Given the description of an element on the screen output the (x, y) to click on. 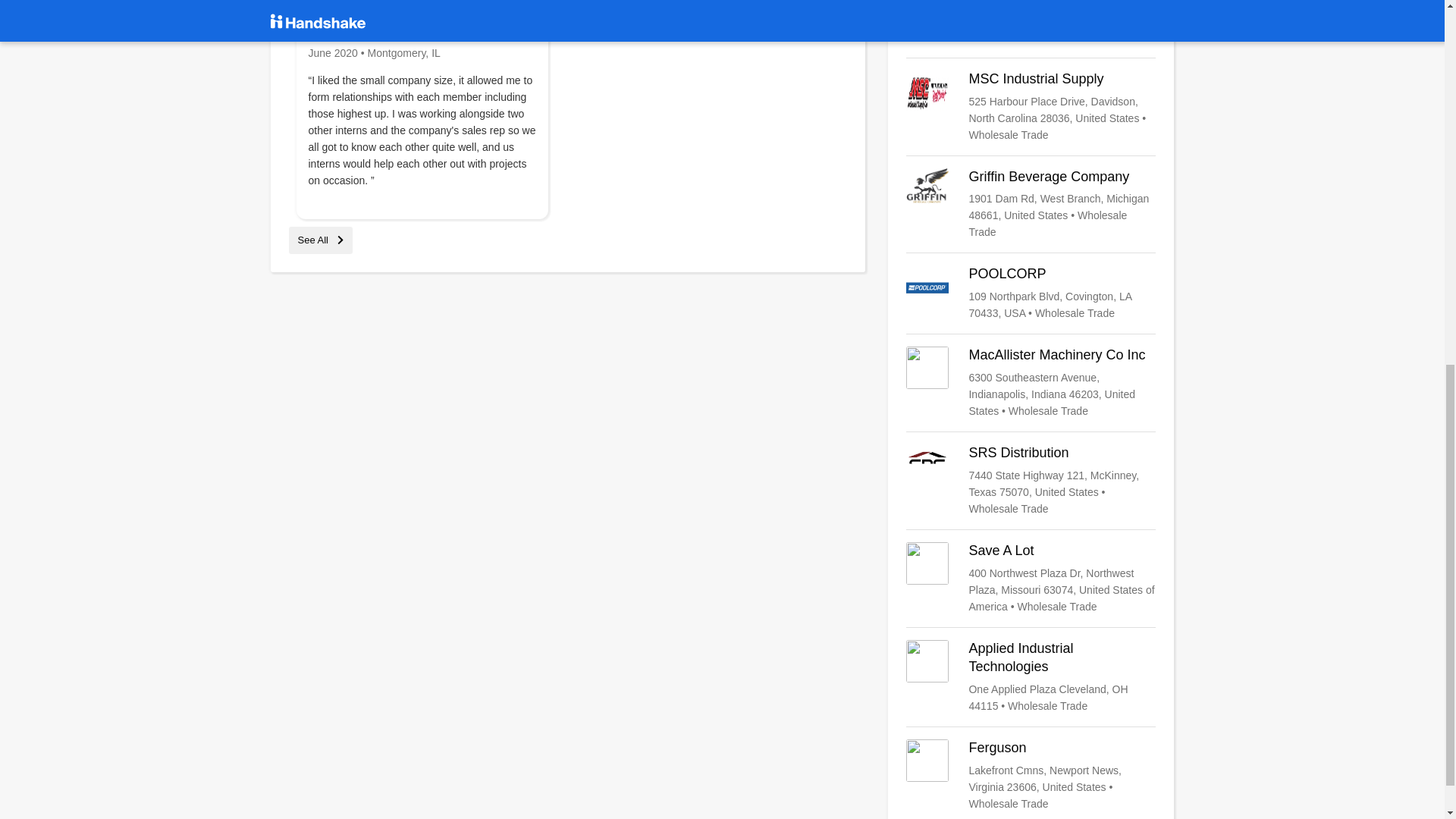
POOLCORP (1030, 293)
MacAllister Machinery Co Inc (1030, 382)
Save A Lot (1030, 578)
MSC Industrial Supply (1030, 106)
Consolidated Electrical Distributors, Inc. (1030, 22)
Applied Industrial Technologies (1030, 676)
See All (320, 239)
Griffin Beverage Company (1030, 204)
SRS Distribution (1030, 480)
Ferguson (1030, 775)
